Given the description of an element on the screen output the (x, y) to click on. 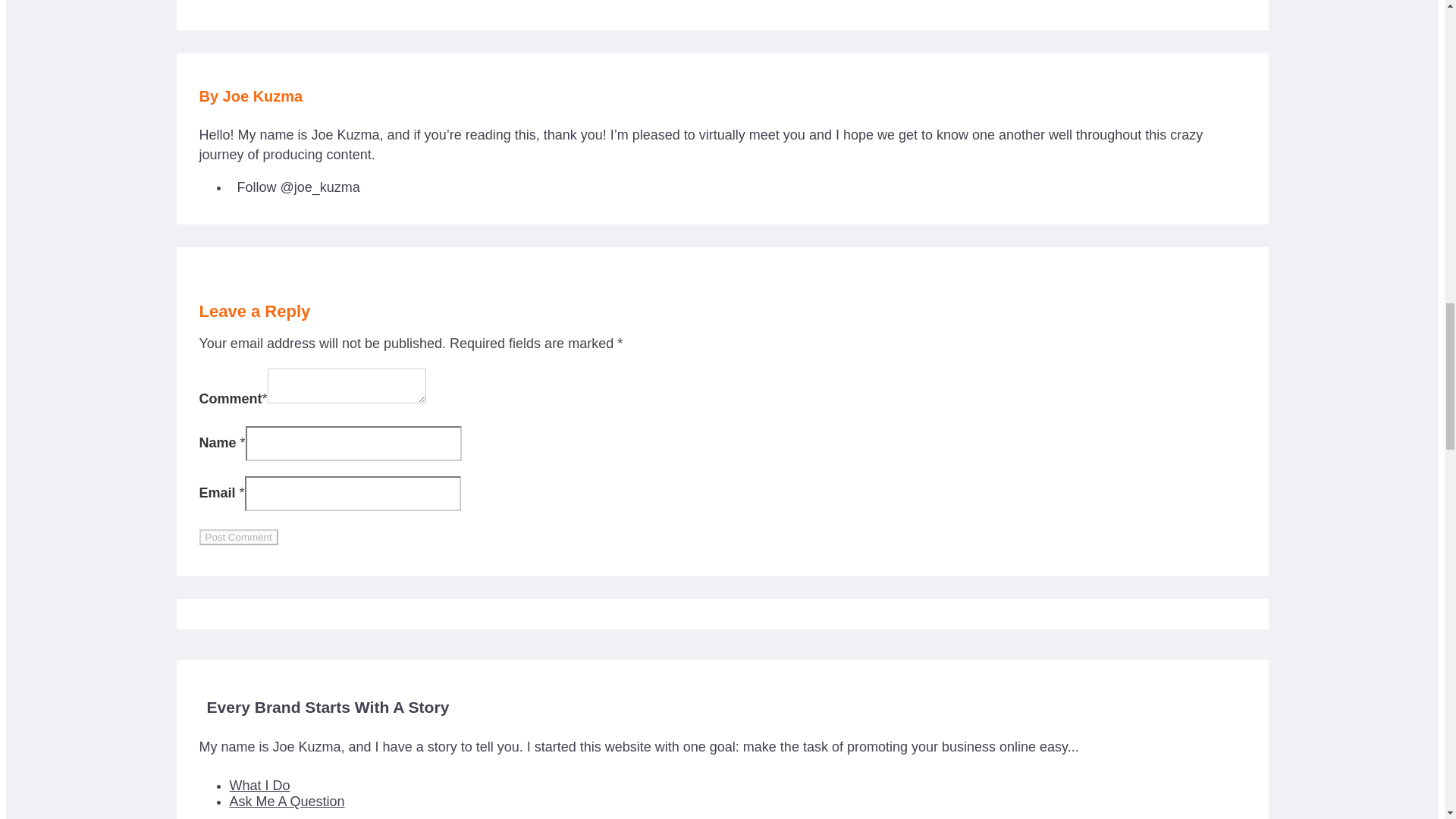
Post Comment (238, 537)
What I Do (266, 785)
Post Comment (238, 537)
Ask Me A Question (293, 801)
